Given the description of an element on the screen output the (x, y) to click on. 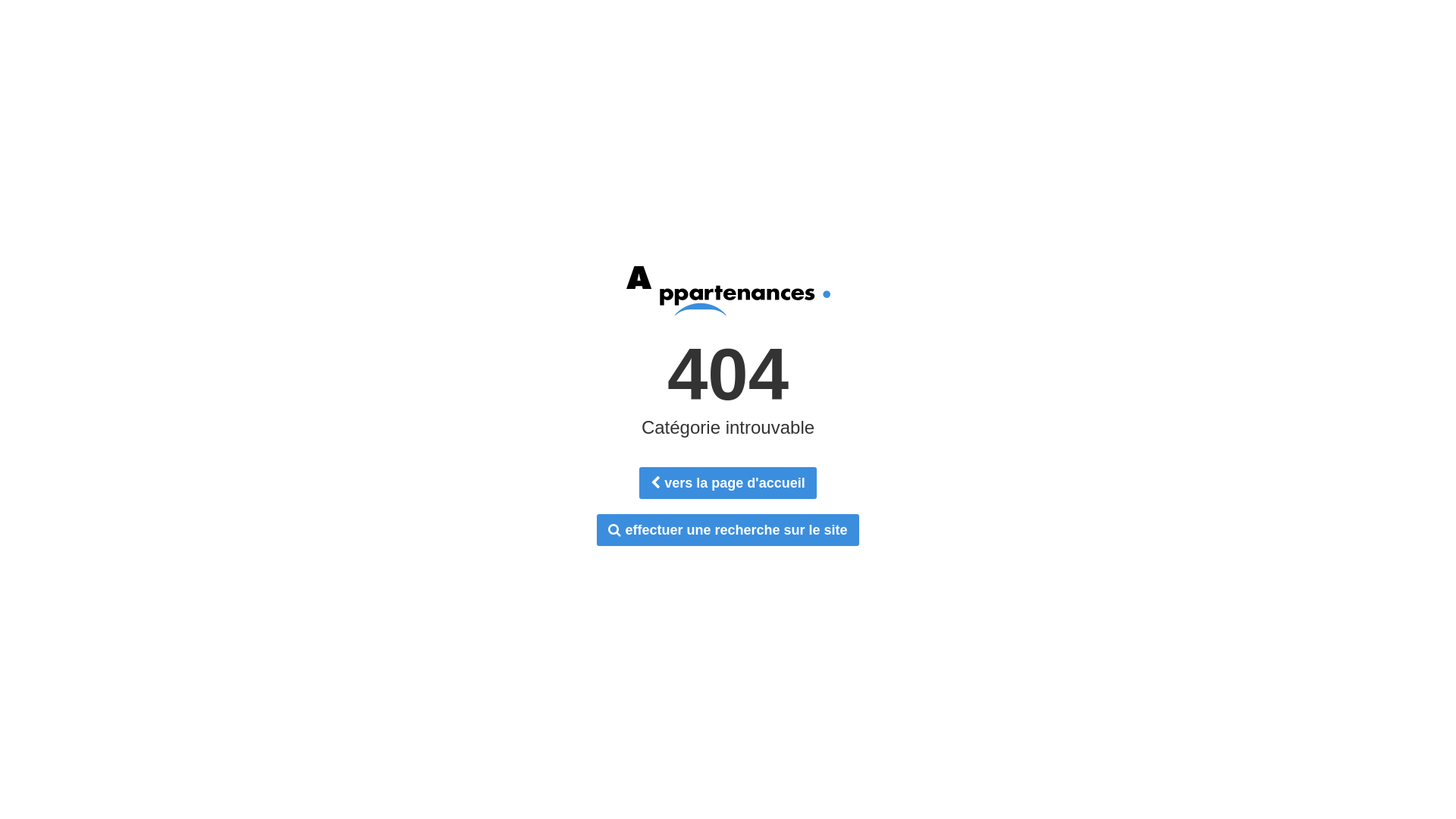
effectuer une recherche sur le site Element type: text (727, 530)
vers la page d'accueil Element type: text (727, 482)
